Given the description of an element on the screen output the (x, y) to click on. 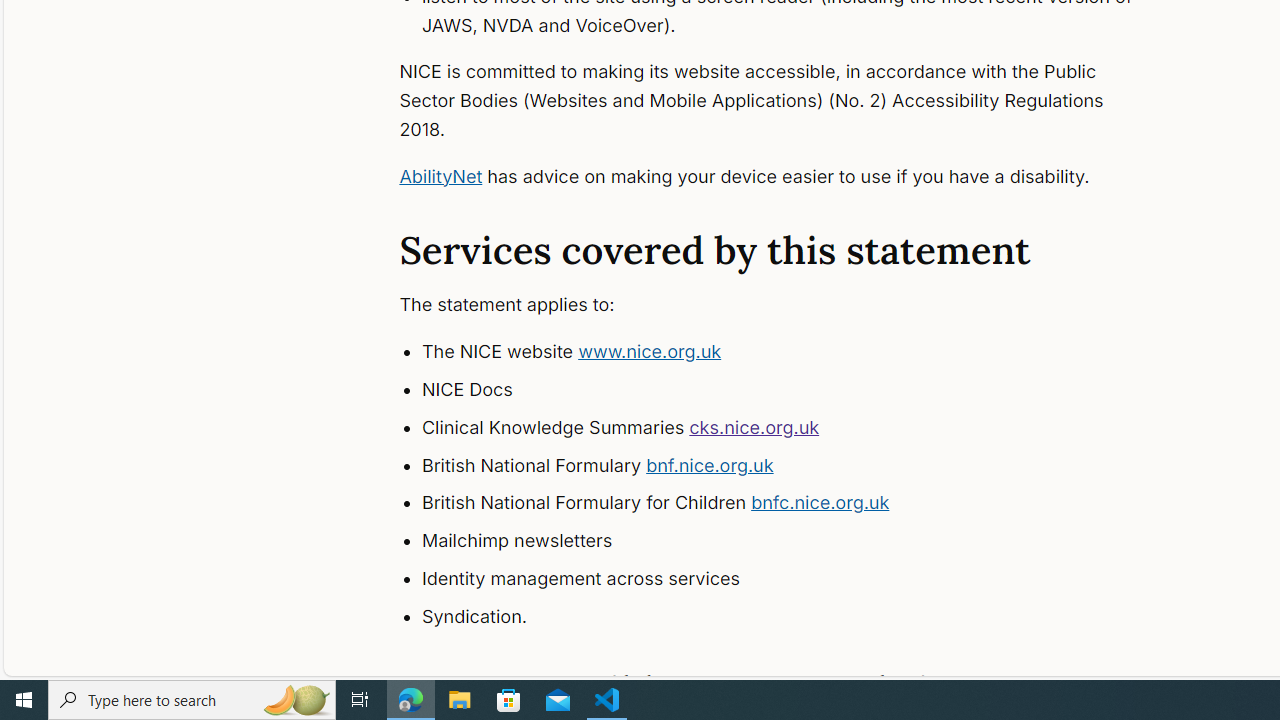
British National Formulary for Children bnfc.nice.org.uk (796, 503)
The NICE website www.nice.org.uk (796, 352)
British National Formulary bnf.nice.org.uk (796, 465)
Clinical Knowledge Summaries cks.nice.org.uk (796, 427)
www.nice.org.uk (649, 351)
Mailchimp newsletters (796, 541)
bnf.nice.org.uk (710, 464)
AbilityNet (440, 175)
cks.nice.org.uk (754, 426)
NICE Docs (796, 389)
Identity management across services (796, 578)
Syndication. (796, 616)
bnfc.nice.org.uk (820, 502)
